Given the description of an element on the screen output the (x, y) to click on. 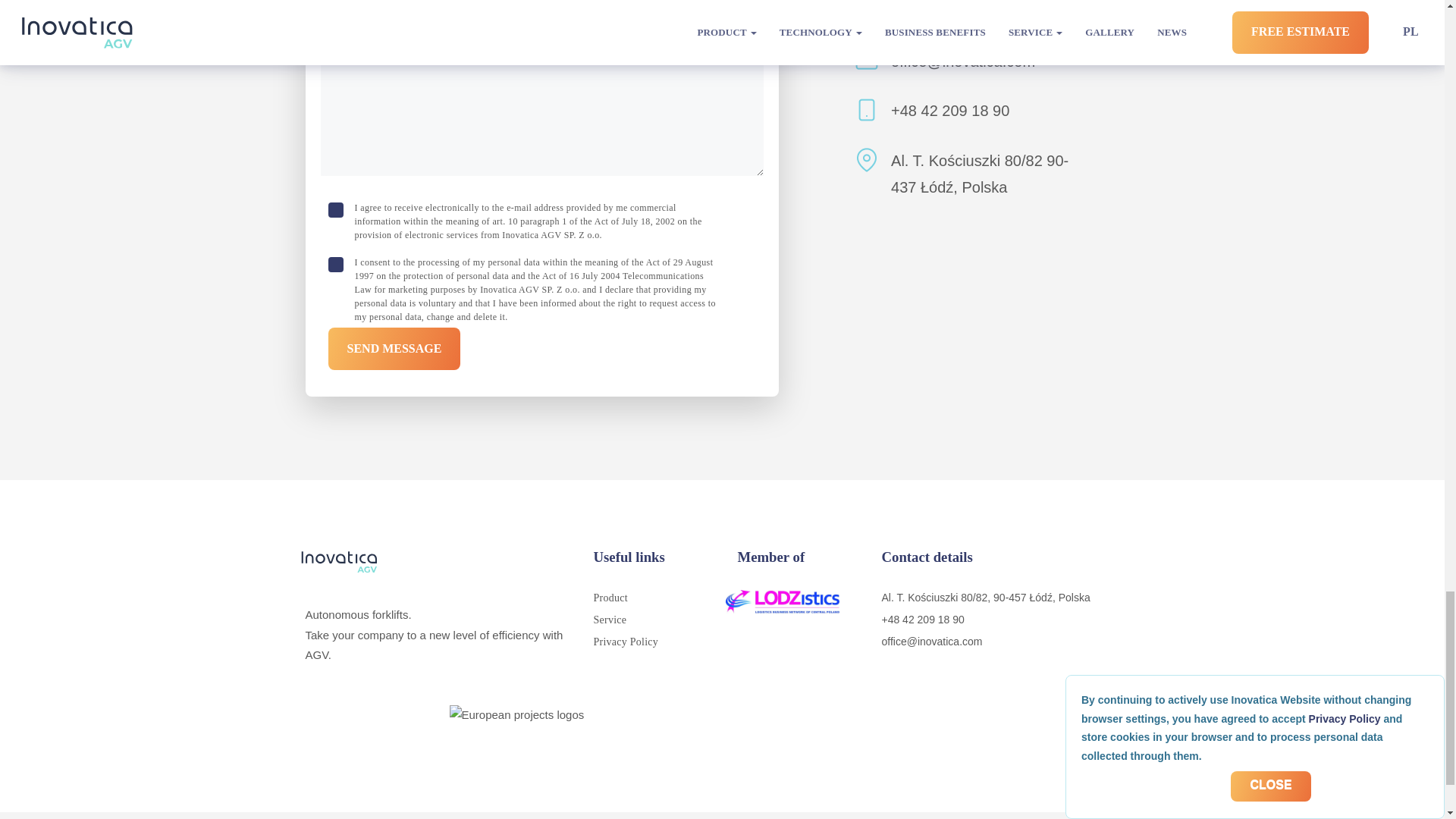
Product (609, 597)
Privacy Policy (625, 641)
SEND MESSAGE (393, 348)
European projects logos (721, 736)
Logo of lodzistic (782, 601)
Wpisz numer telefonu (427, 1)
Service (609, 619)
